Given the description of an element on the screen output the (x, y) to click on. 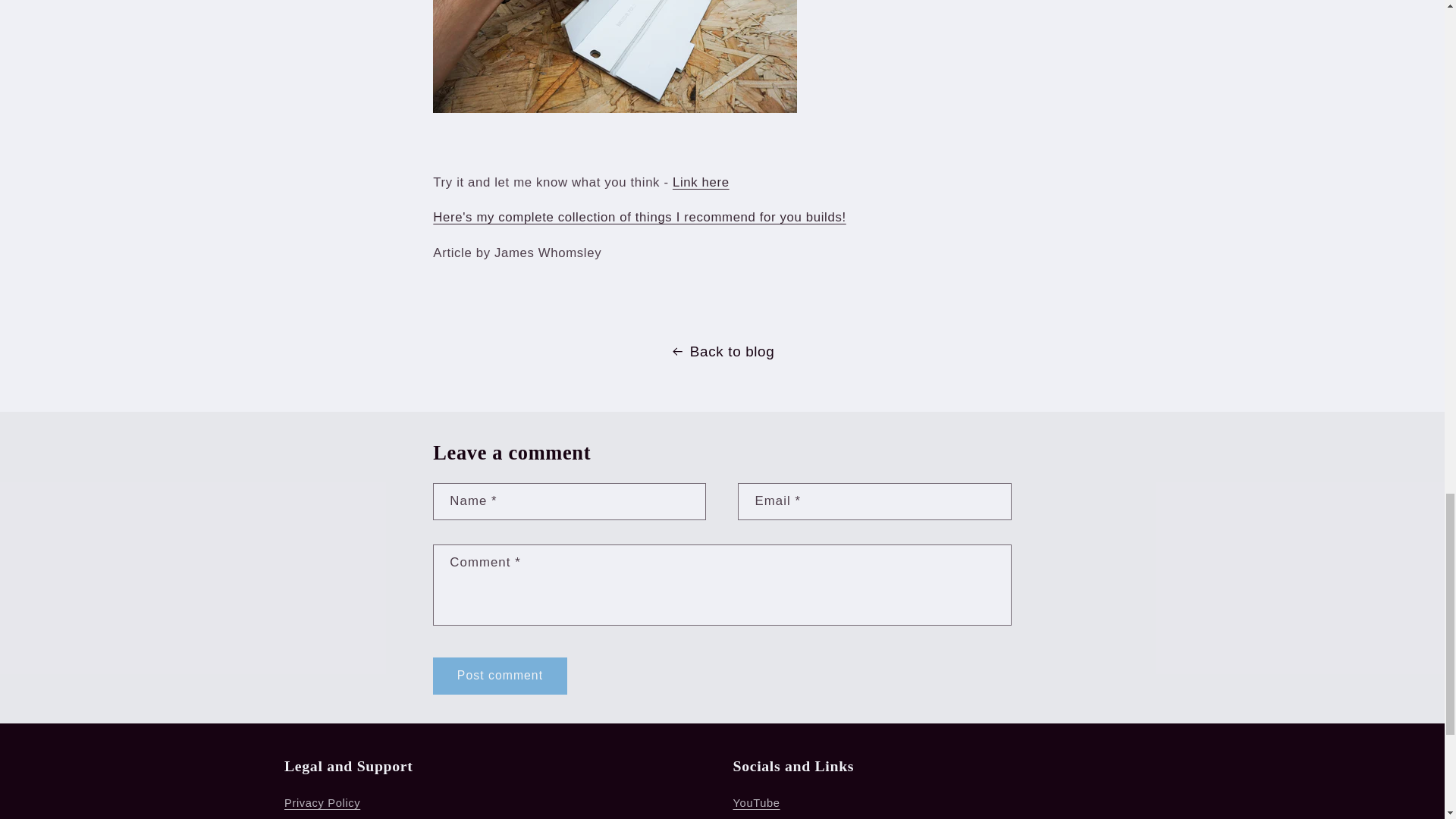
Link here (700, 182)
Post comment (499, 675)
